Given the description of an element on the screen output the (x, y) to click on. 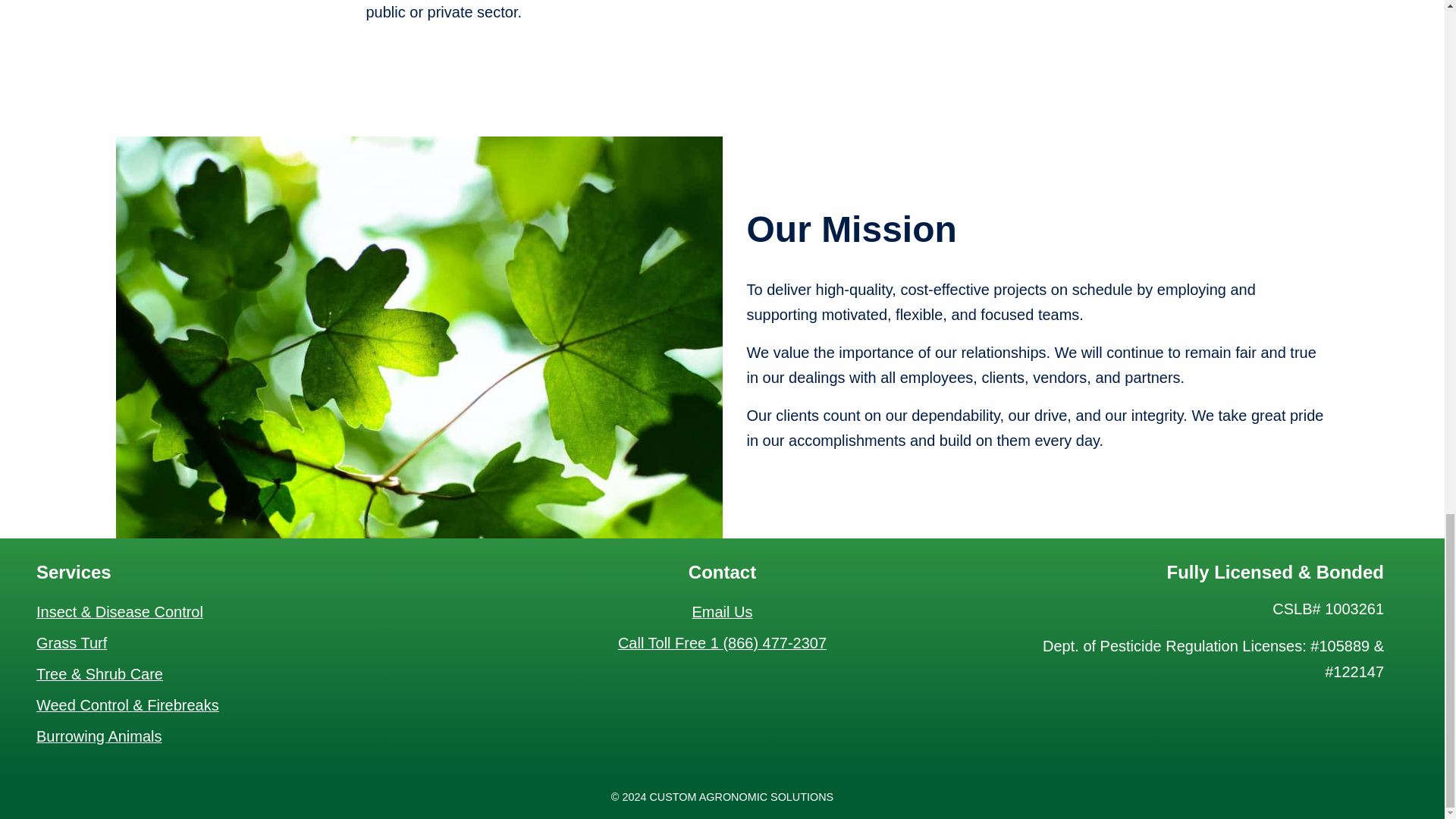
Grass Turf (71, 643)
Burrowing Animals (99, 736)
Email Us (722, 612)
